Given the description of an element on the screen output the (x, y) to click on. 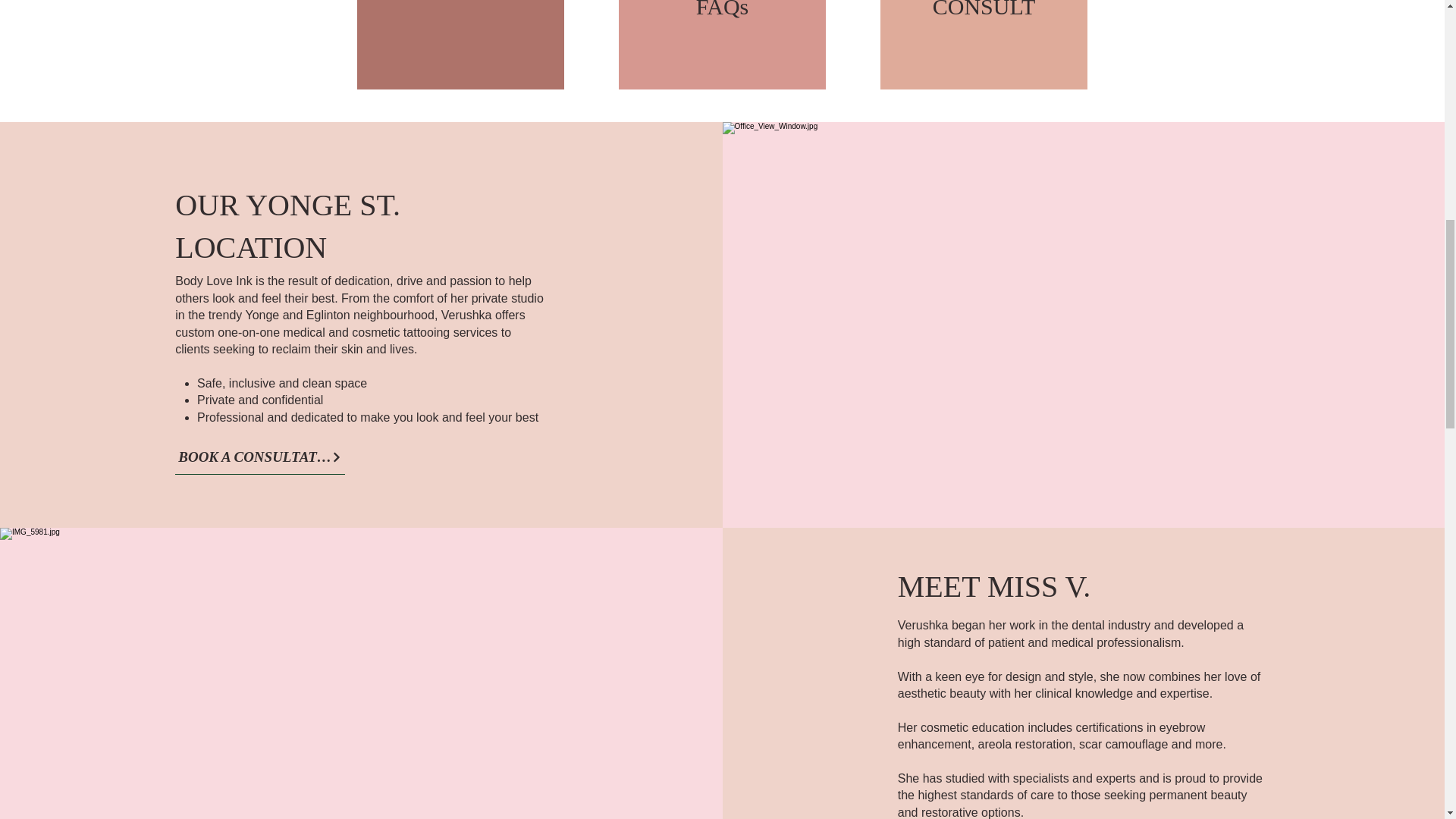
BOOK A CONSULT (984, 9)
BOOK A CONSULTATION (259, 457)
